Given the description of an element on the screen output the (x, y) to click on. 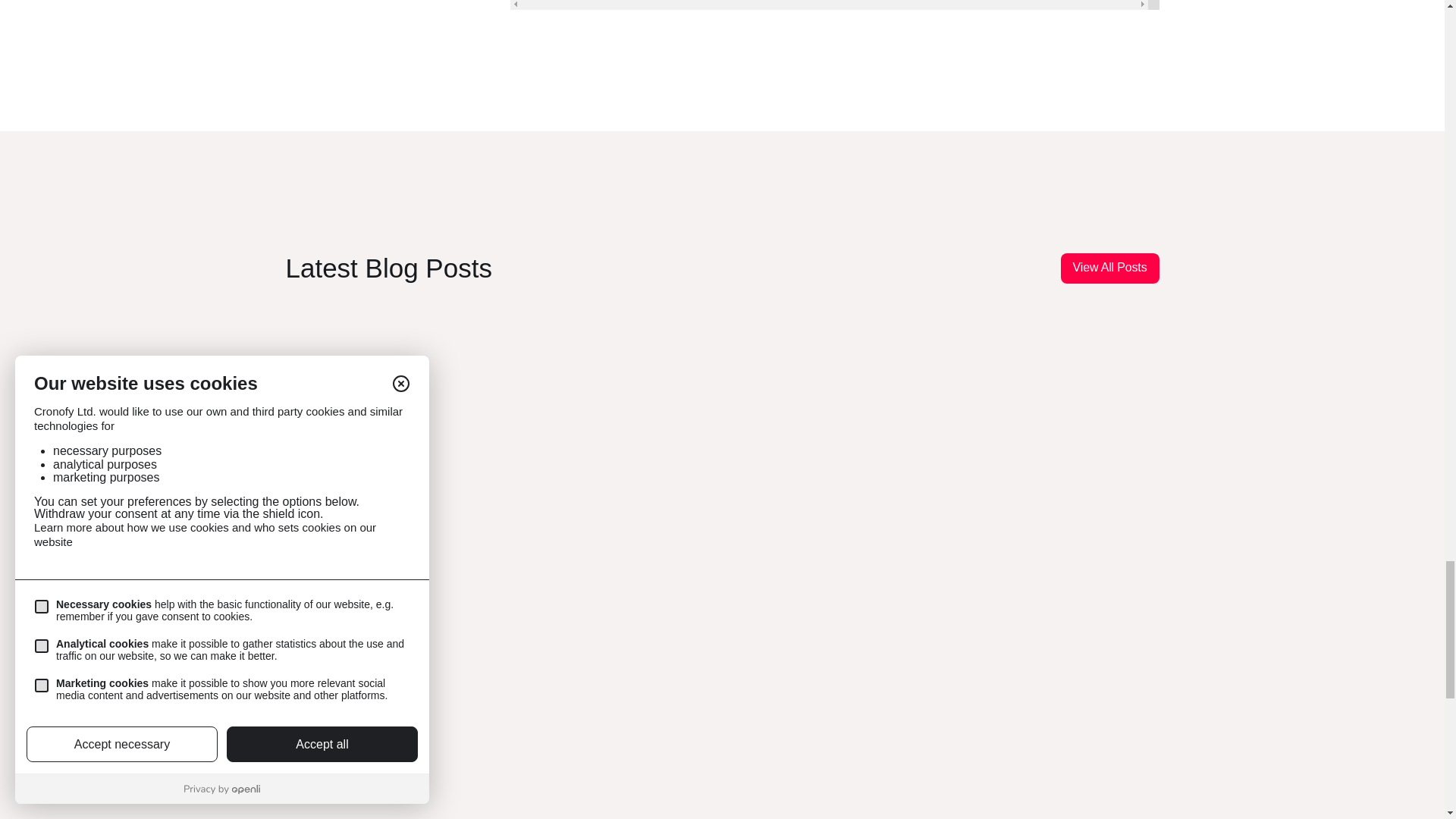
View All Posts (1109, 268)
